Given the description of an element on the screen output the (x, y) to click on. 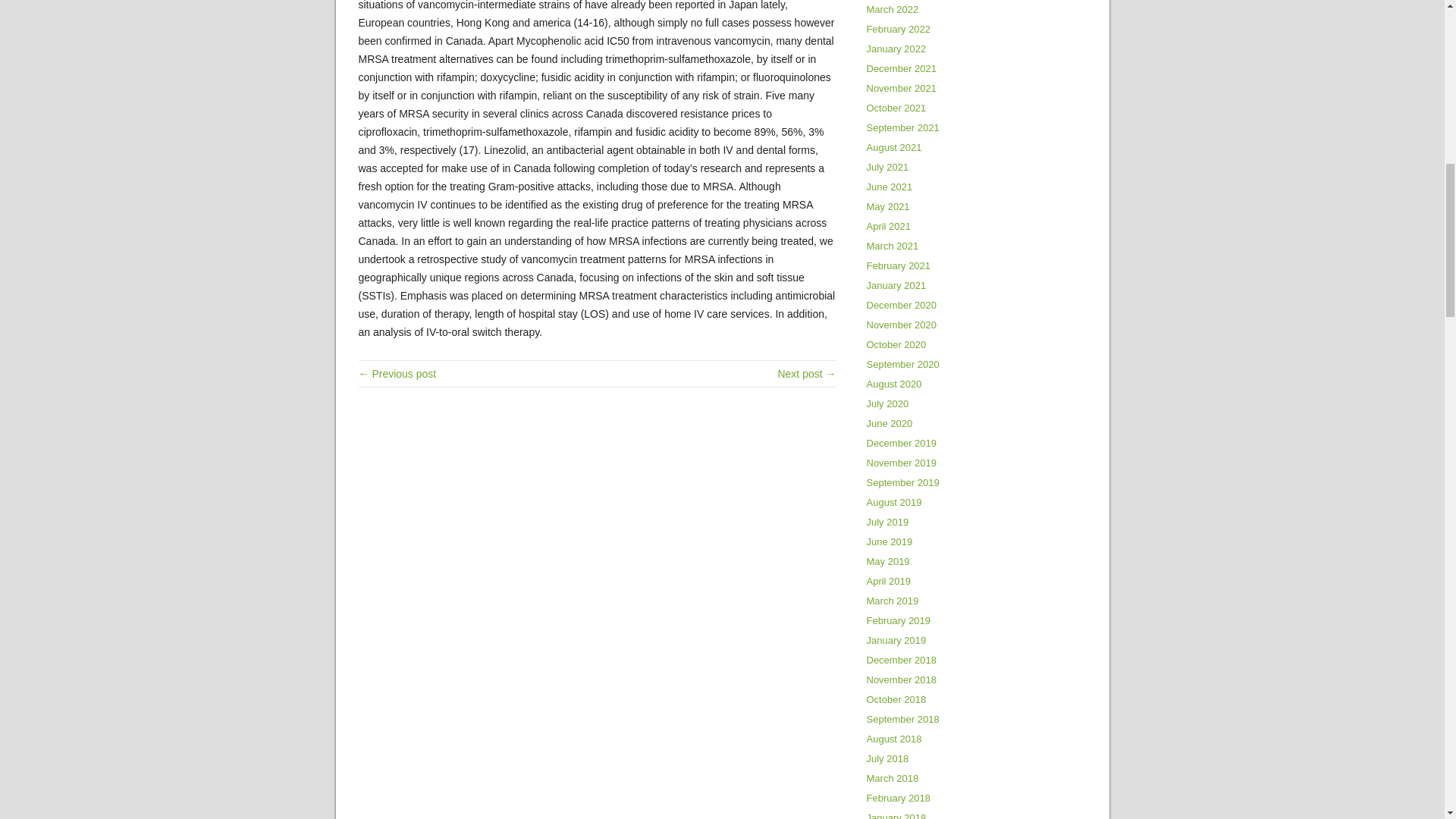
March 2022 (892, 9)
January 2022 (896, 48)
November 2021 (901, 88)
February 2022 (898, 29)
October 2021 (896, 107)
September 2021 (902, 127)
December 2021 (901, 68)
